Given the description of an element on the screen output the (x, y) to click on. 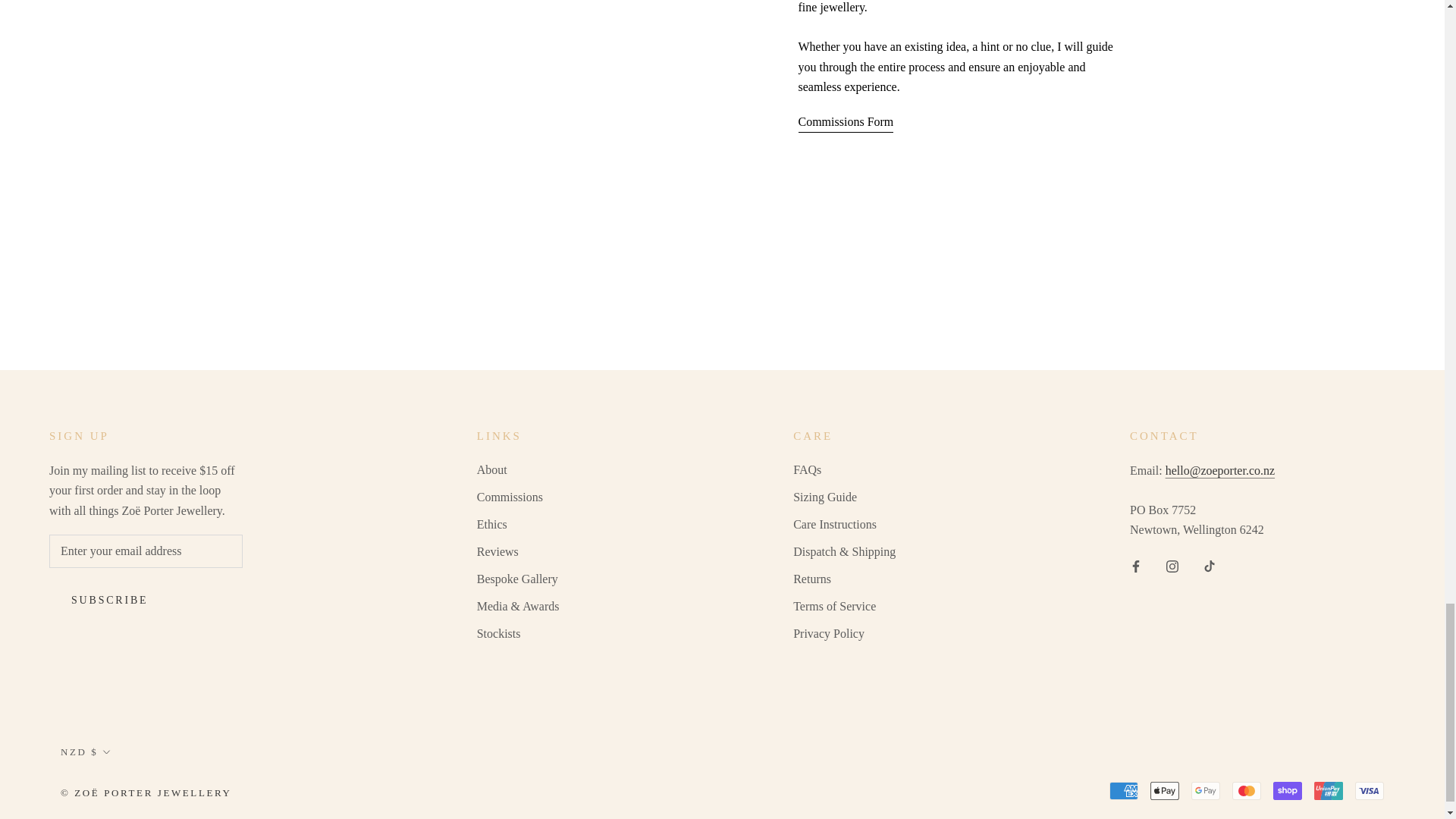
American Express (1123, 791)
Shop Pay (1286, 791)
Visa (1369, 791)
Google Pay (1205, 791)
Apple Pay (1164, 791)
Mastercard (1245, 791)
Union Pay (1328, 791)
